Given the description of an element on the screen output the (x, y) to click on. 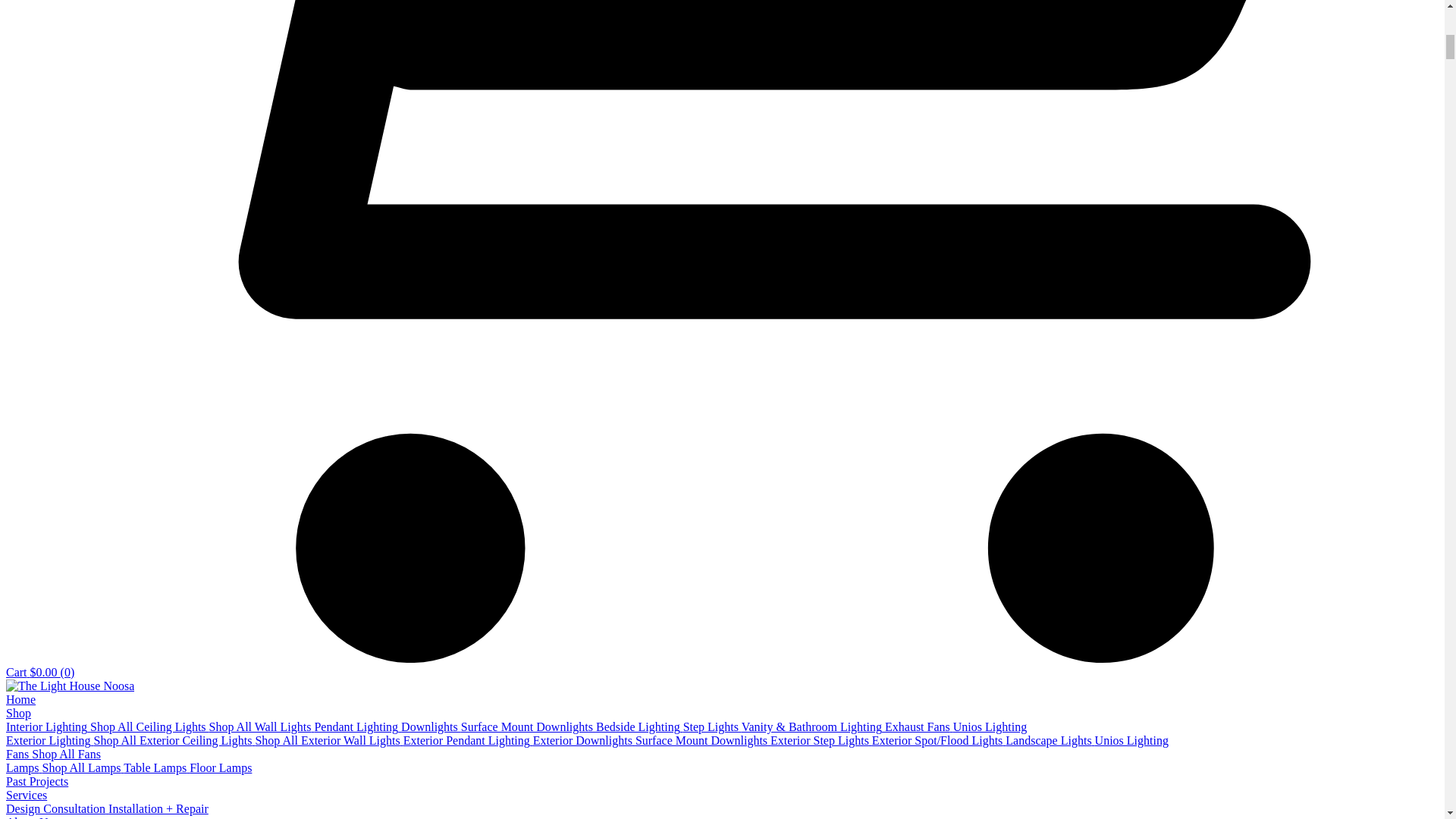
Shop All Fans (66, 753)
Lamps (23, 767)
Design Consultation (56, 808)
Shop (17, 712)
Shop All Lamps (82, 767)
Surface Mount Downlights (702, 739)
About Us (28, 817)
Unios Lighting (1131, 739)
Step Lights (711, 726)
Landscape Lights (1050, 739)
Unios Lighting (989, 726)
Bedside Lighting (638, 726)
Exterior Lighting (49, 739)
Shop All Exterior Wall Lights (328, 739)
Services (25, 794)
